Given the description of an element on the screen output the (x, y) to click on. 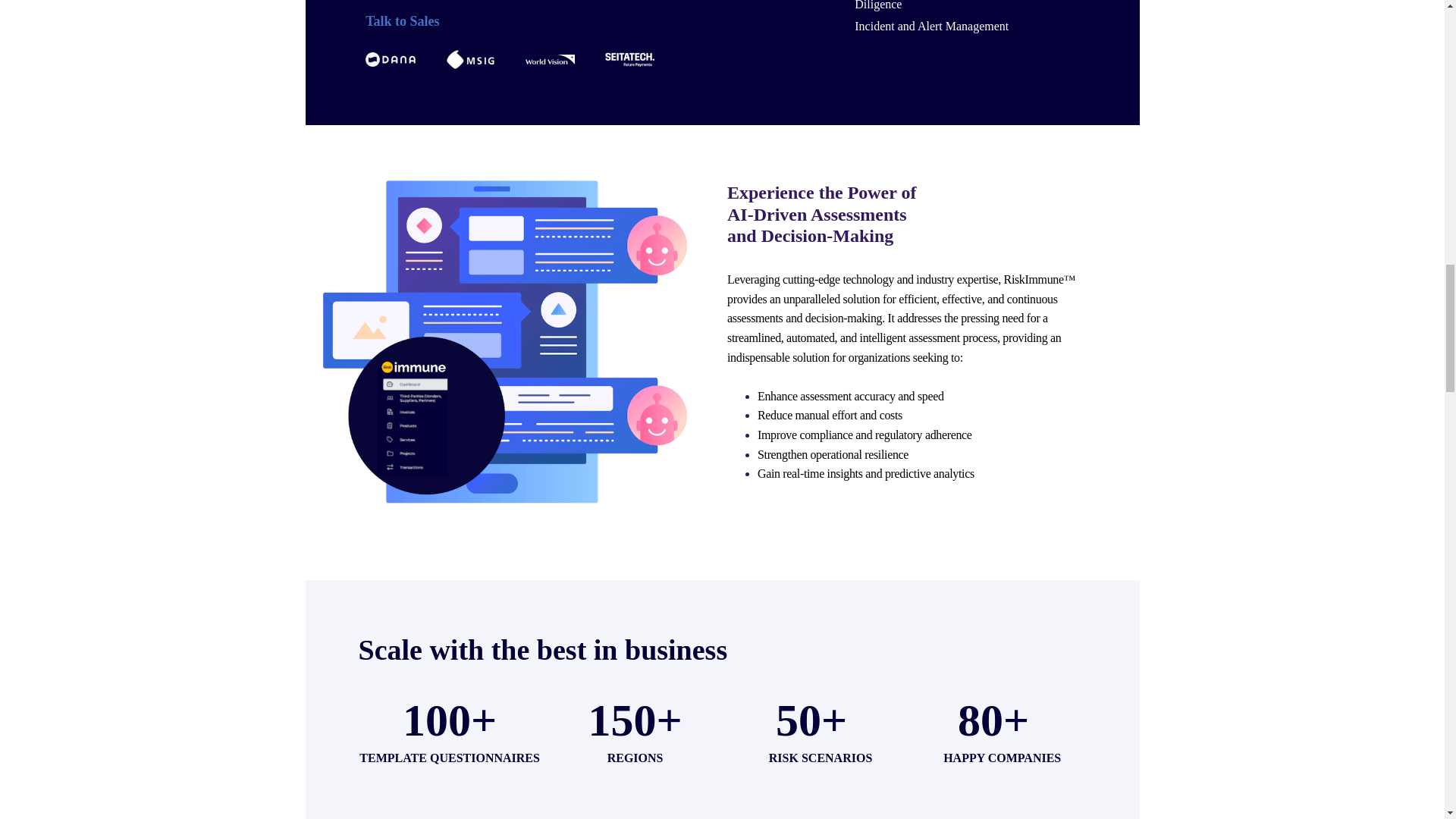
Talk to Sales (571, 21)
